Given the description of an element on the screen output the (x, y) to click on. 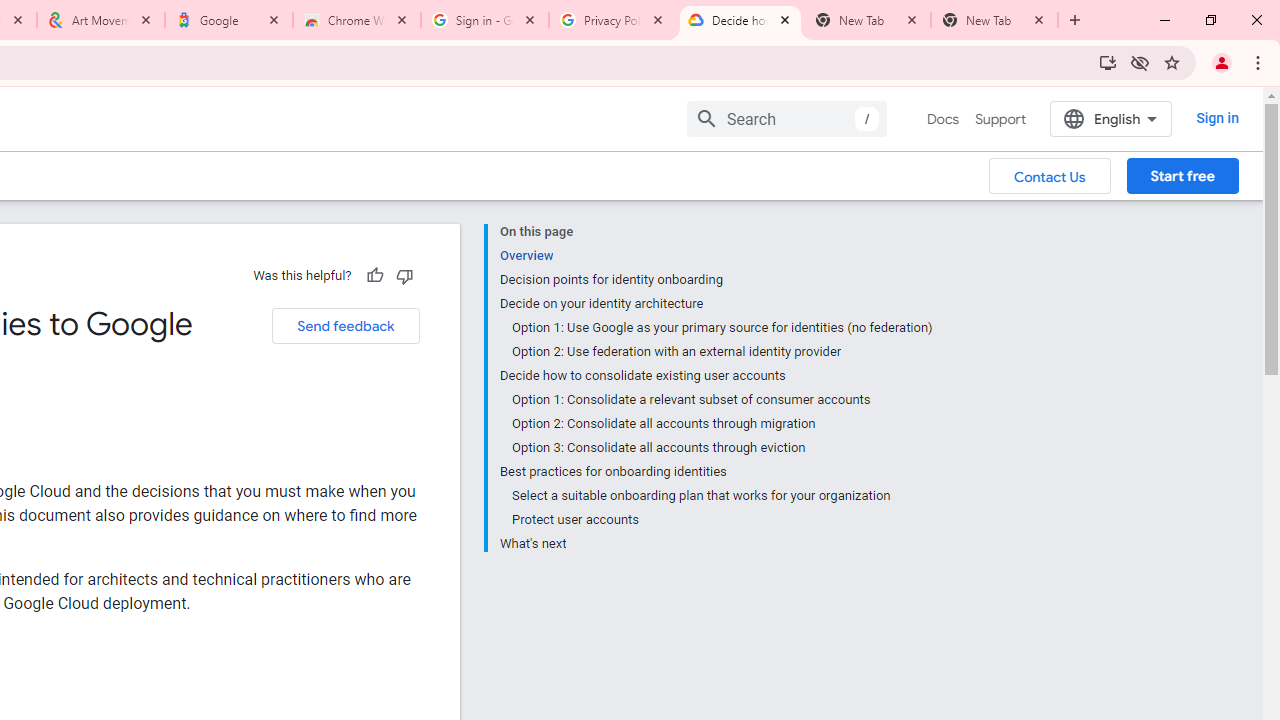
Chrome Web Store - Color themes by Chrome (357, 20)
English (1110, 118)
Decision points for identity onboarding (716, 279)
Helpful (374, 275)
Install Google Cloud (1107, 62)
What's next (716, 542)
Send feedback (345, 326)
Option 1: Consolidate a relevant subset of consumer accounts (721, 399)
Decide how to consolidate existing user accounts (716, 376)
Not helpful (404, 275)
